Given the description of an element on the screen output the (x, y) to click on. 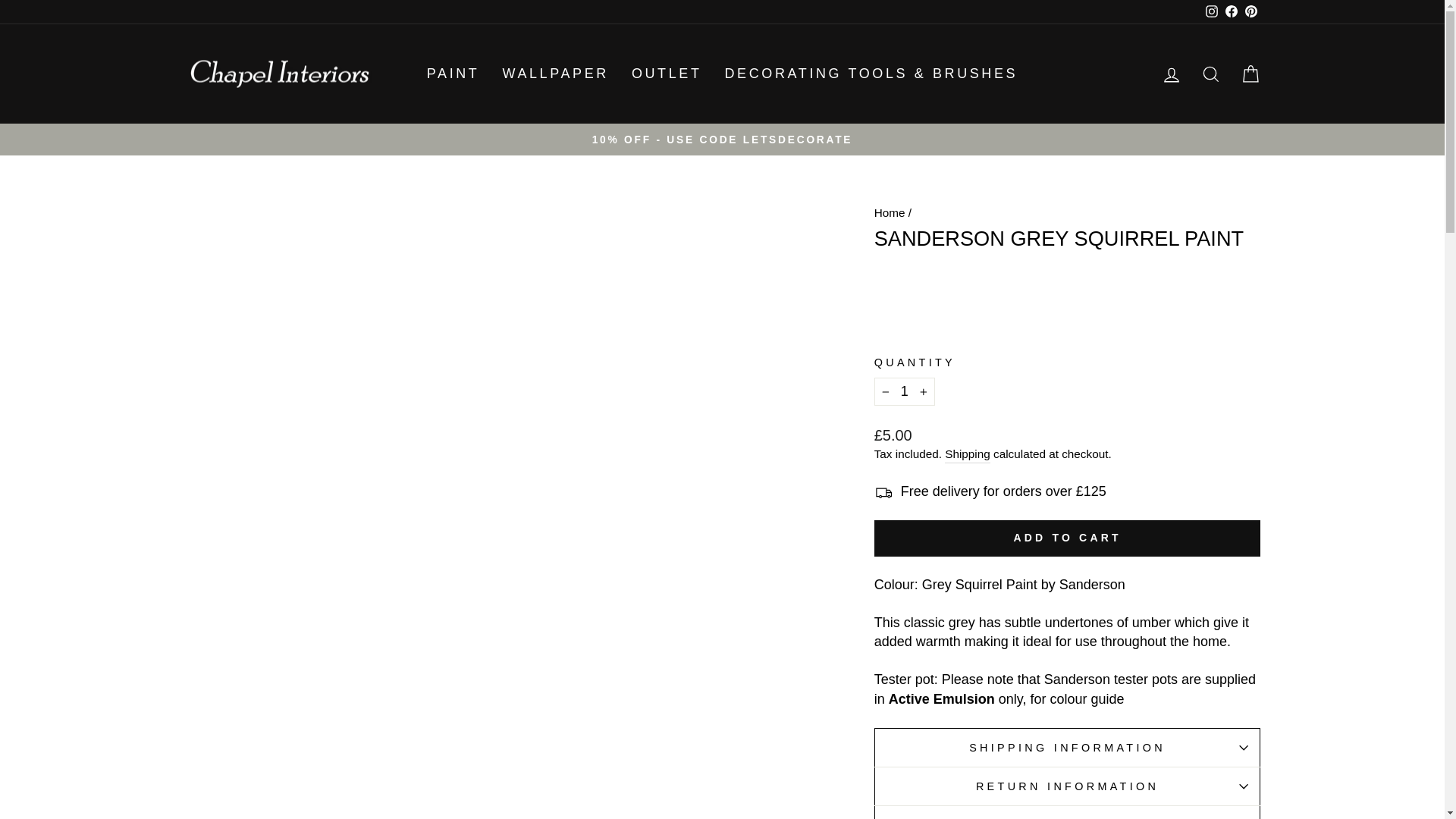
Back to the frontpage (890, 212)
1 (904, 391)
